Given the description of an element on the screen output the (x, y) to click on. 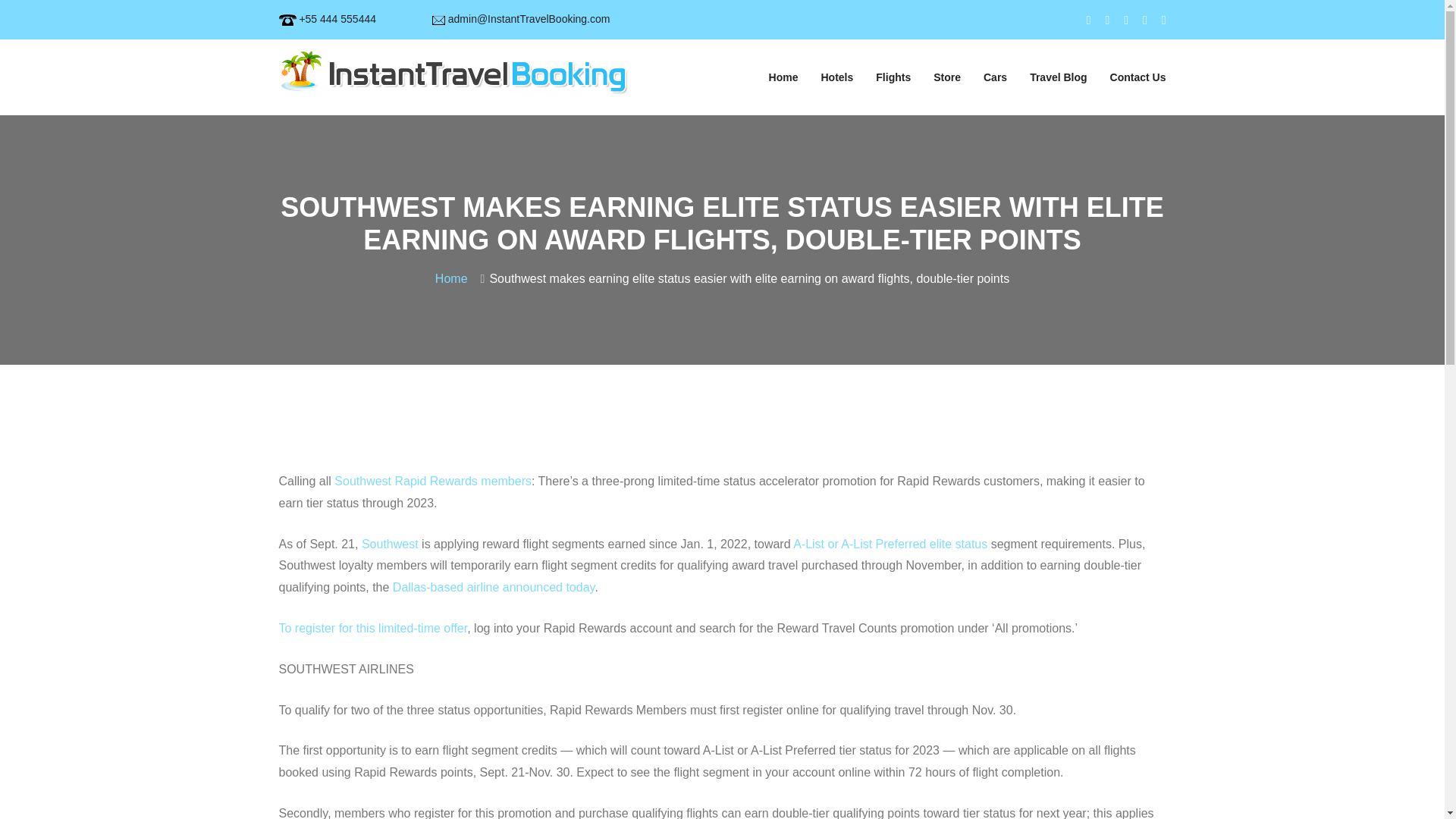
Dallas-based airline announced today (494, 586)
Southwest Rapid Rewards members (432, 481)
Home   (454, 278)
Southwest (390, 543)
A-List or A-List Preferred elite status (890, 543)
travel (453, 71)
To register for this limited-time offer (373, 627)
